Given the description of an element on the screen output the (x, y) to click on. 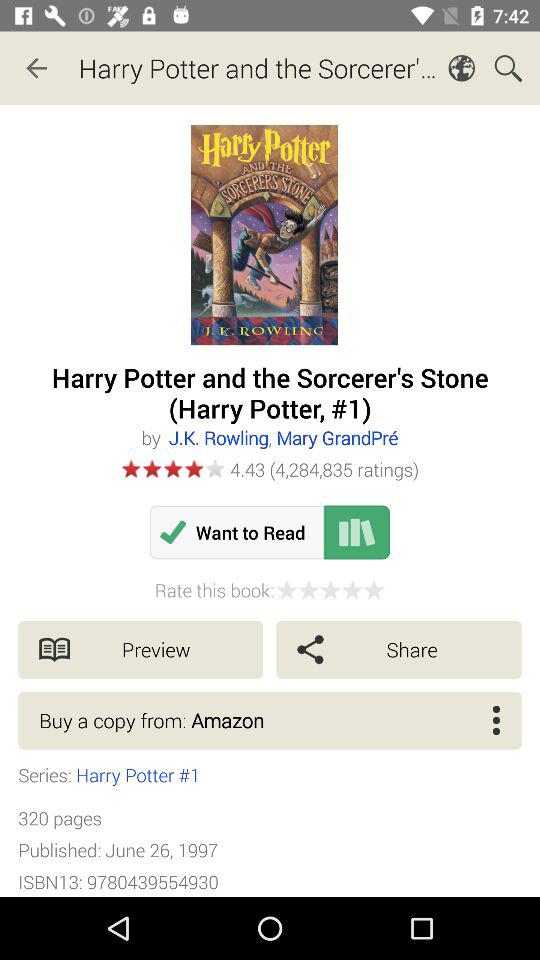
scroll to buy a copy (269, 720)
